Given the description of an element on the screen output the (x, y) to click on. 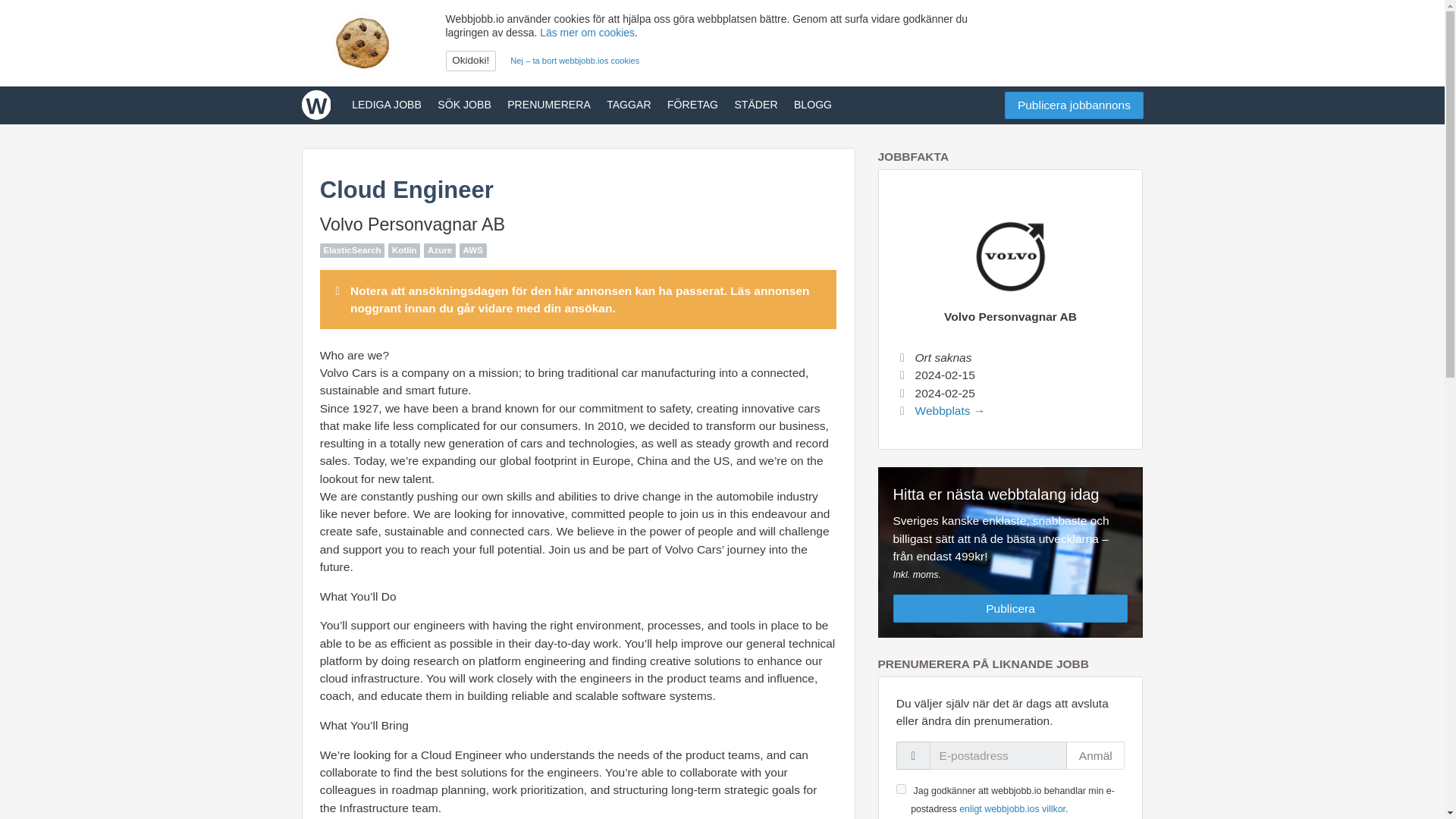
Volvo Personvagnar AB (1010, 316)
Publicera (1010, 608)
Visa alla Kotlin-jobb (404, 250)
Publicera jobbannons (1073, 105)
Visa alla webbjobb hos Volvo Personvagnar AB (412, 224)
Visa alla ElasticSearch-jobb (352, 250)
ElasticSearch (352, 250)
Okidoki! (470, 60)
Visa alla Azure-jobb (439, 250)
Azure (439, 250)
